Given the description of an element on the screen output the (x, y) to click on. 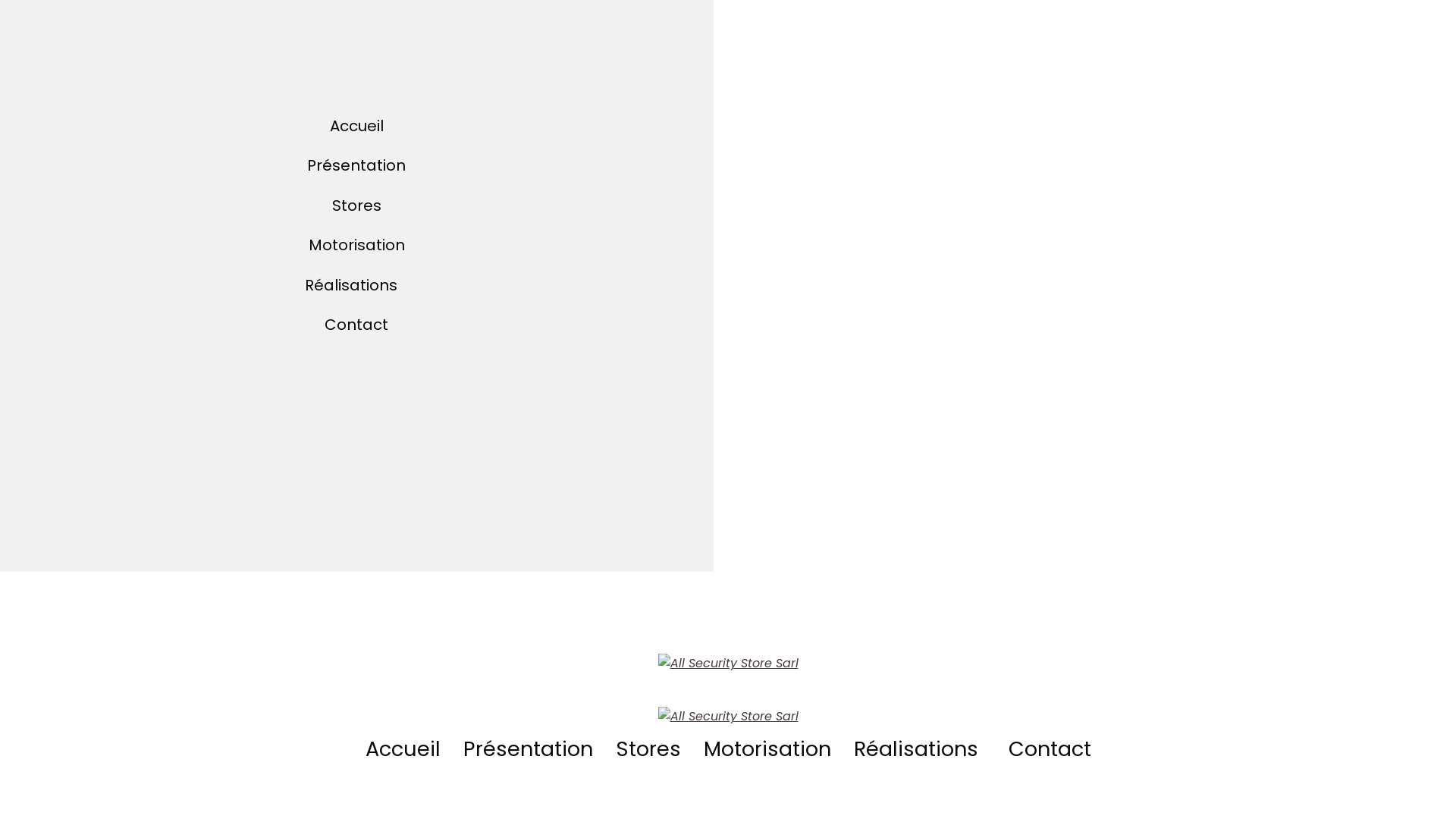
Accueil Element type: text (355, 125)
Motorisation Element type: text (767, 749)
Contact Element type: text (1049, 749)
Accueil Element type: text (402, 749)
Stores Element type: text (647, 749)
Contact Element type: text (355, 324)
Stores Element type: text (355, 205)
Motorisation Element type: text (355, 244)
